Given the description of an element on the screen output the (x, y) to click on. 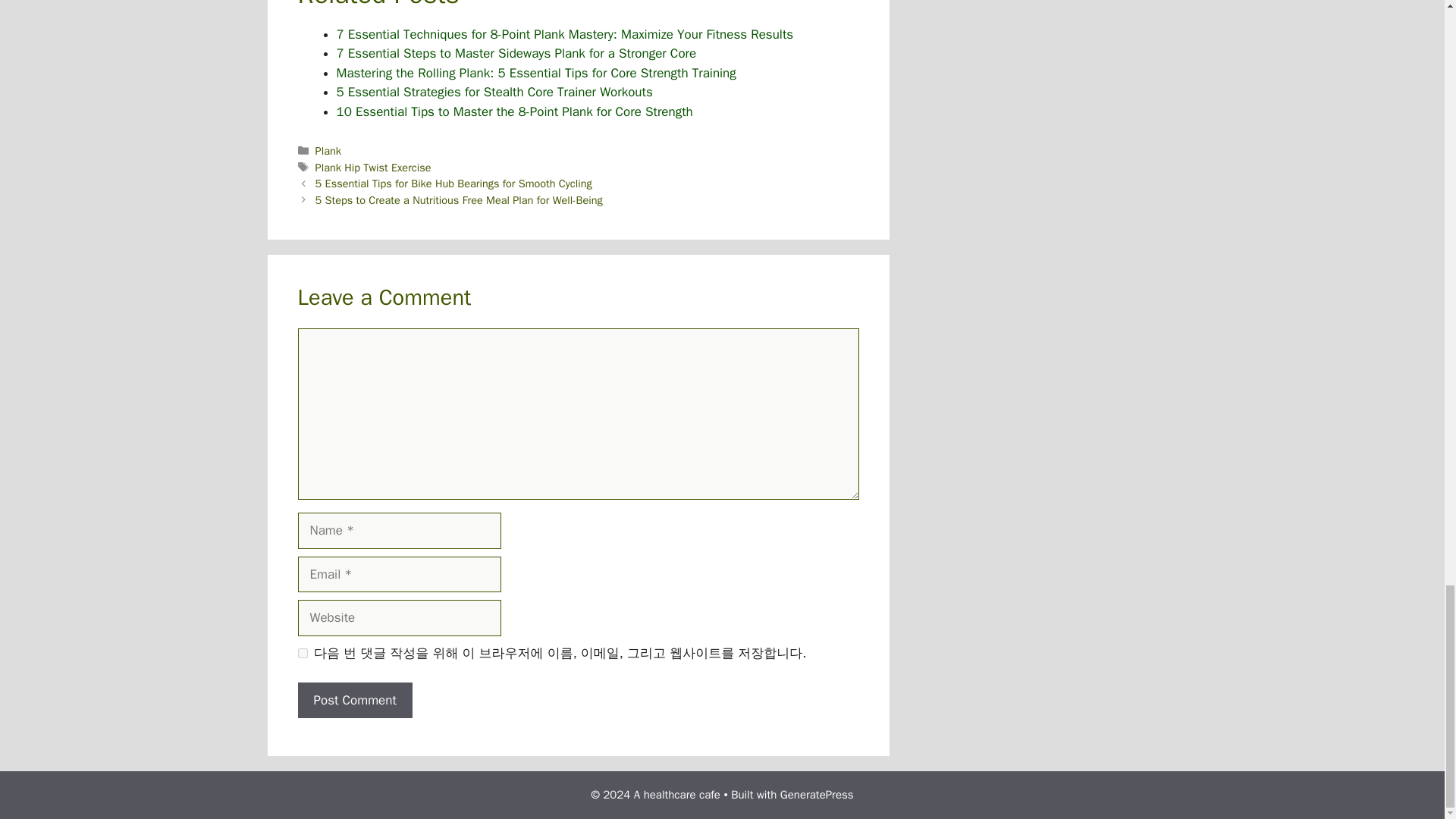
5 Steps to Create a Nutritious Free Meal Plan for Well-Being (458, 200)
yes (302, 653)
Post Comment (354, 700)
Plank Hip Twist Exercise (372, 167)
Plank (327, 151)
Post Comment (354, 700)
5 Essential Tips for Bike Hub Bearings for Smooth Cycling (453, 183)
5 Essential Strategies for Stealth Core Trainer Workouts (494, 91)
